Given the description of an element on the screen output the (x, y) to click on. 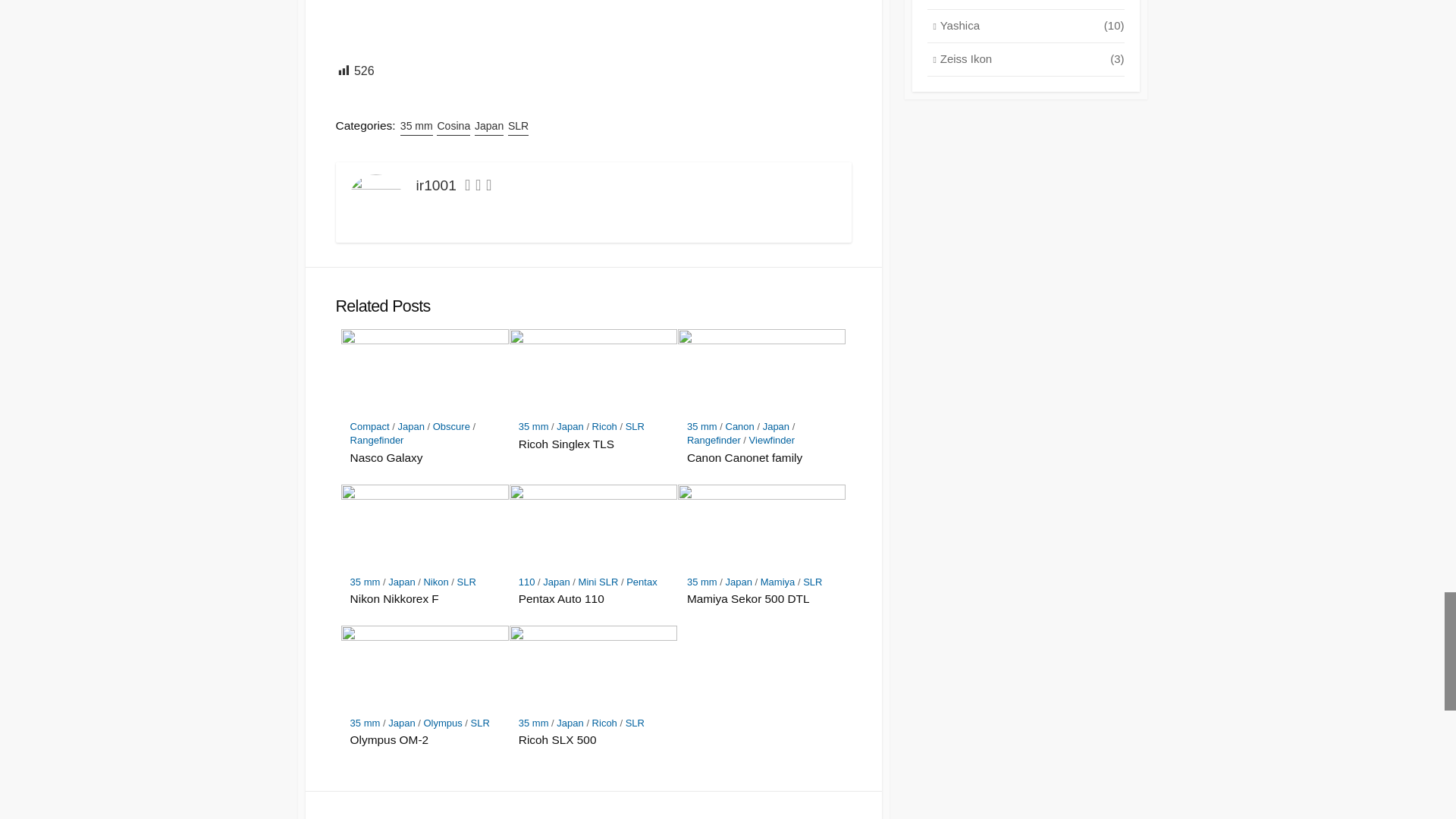
Obscure (451, 426)
Compact (370, 426)
Japan (410, 426)
Facebook (478, 186)
Twitter (467, 186)
Rangefinder (377, 439)
35 mm (702, 426)
Japan (488, 126)
Instagram (489, 186)
35 mm (416, 126)
Ricoh Singlex TLS (593, 444)
Twitter (467, 186)
Instagram (489, 186)
Cosina (453, 126)
Nasco Galaxy (425, 458)
